Given the description of an element on the screen output the (x, y) to click on. 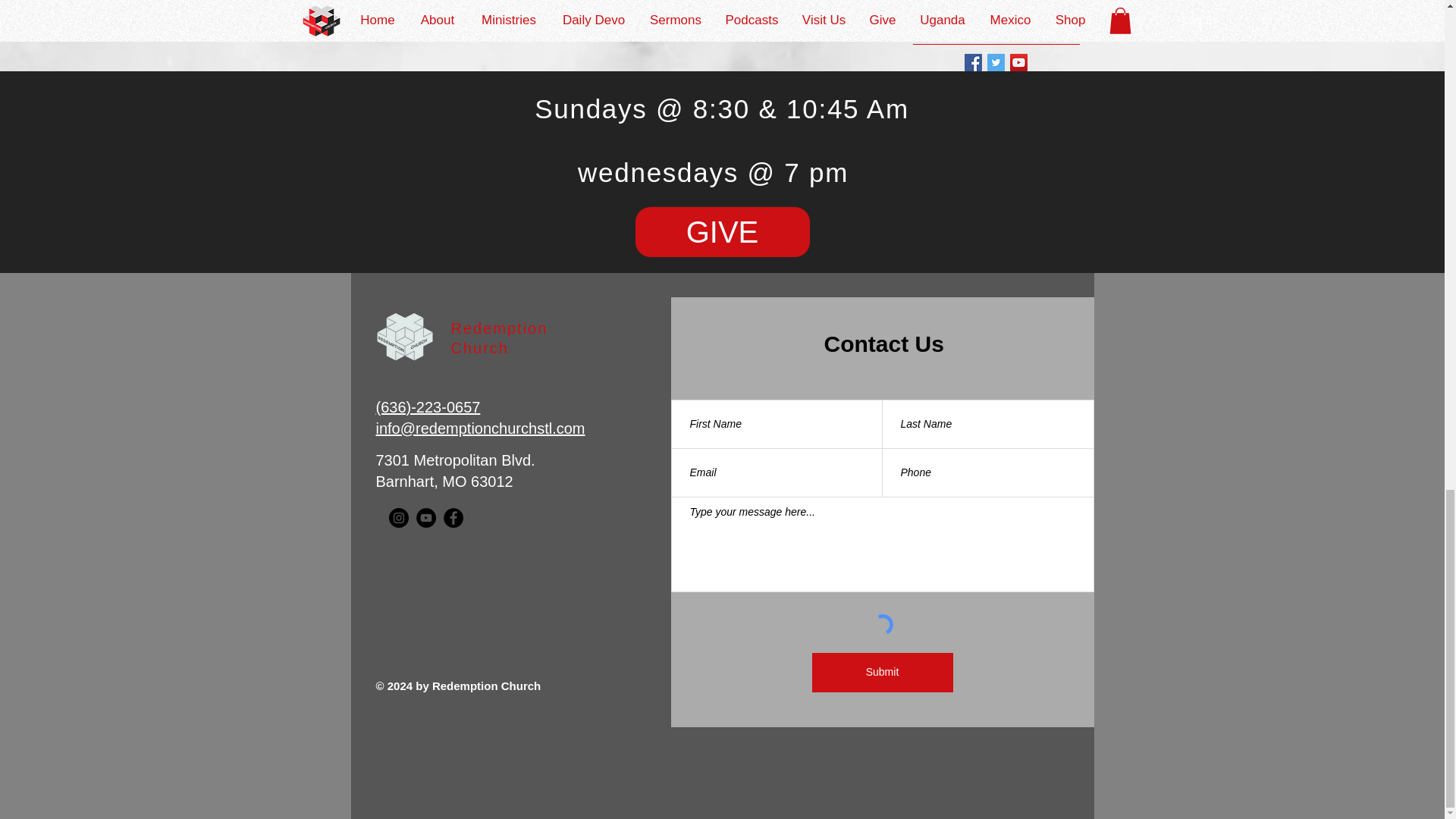
GIVE (721, 232)
